Given the description of an element on the screen output the (x, y) to click on. 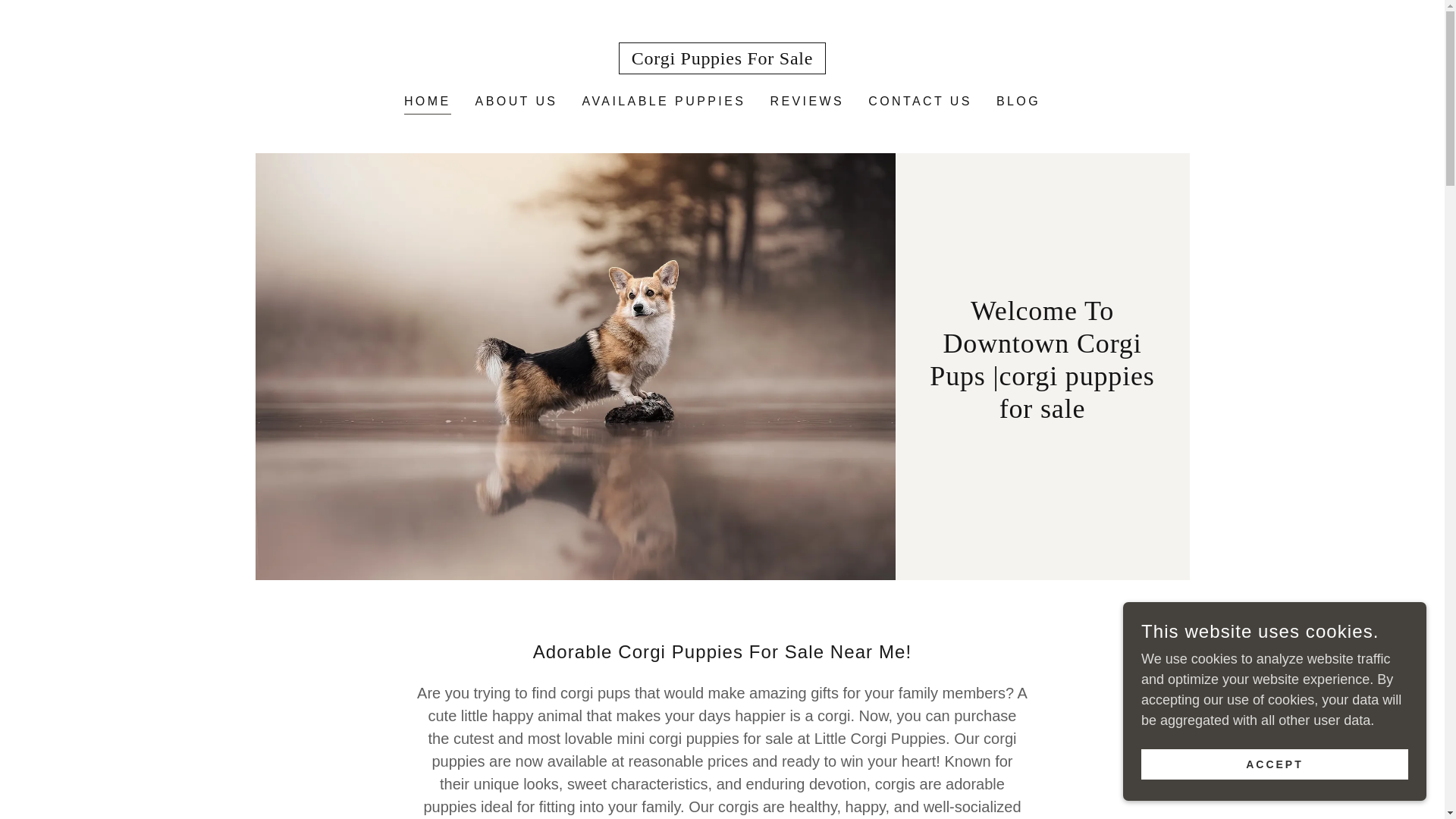
Corgi Puppies For Sale (721, 59)
HOME (427, 103)
Corgi Puppies For Sale (721, 59)
ACCEPT (1274, 764)
REVIEWS (806, 101)
CONTACT US (919, 101)
BLOG (1018, 101)
AVAILABLE PUPPIES (662, 101)
ABOUT US (516, 101)
